Given the description of an element on the screen output the (x, y) to click on. 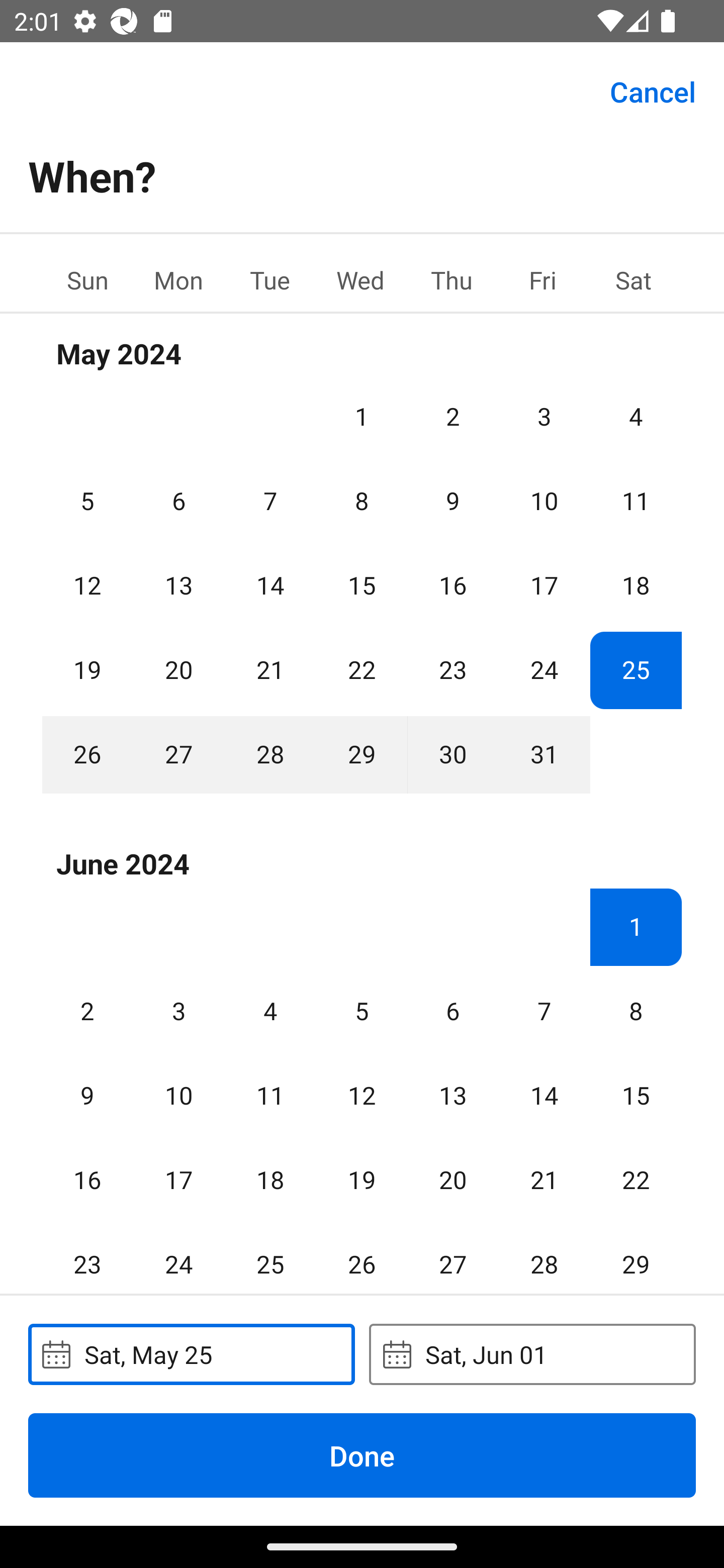
Cancel (652, 90)
Sat, May 25 (191, 1353)
Sat, Jun 01 (532, 1353)
Done (361, 1454)
